Given the description of an element on the screen output the (x, y) to click on. 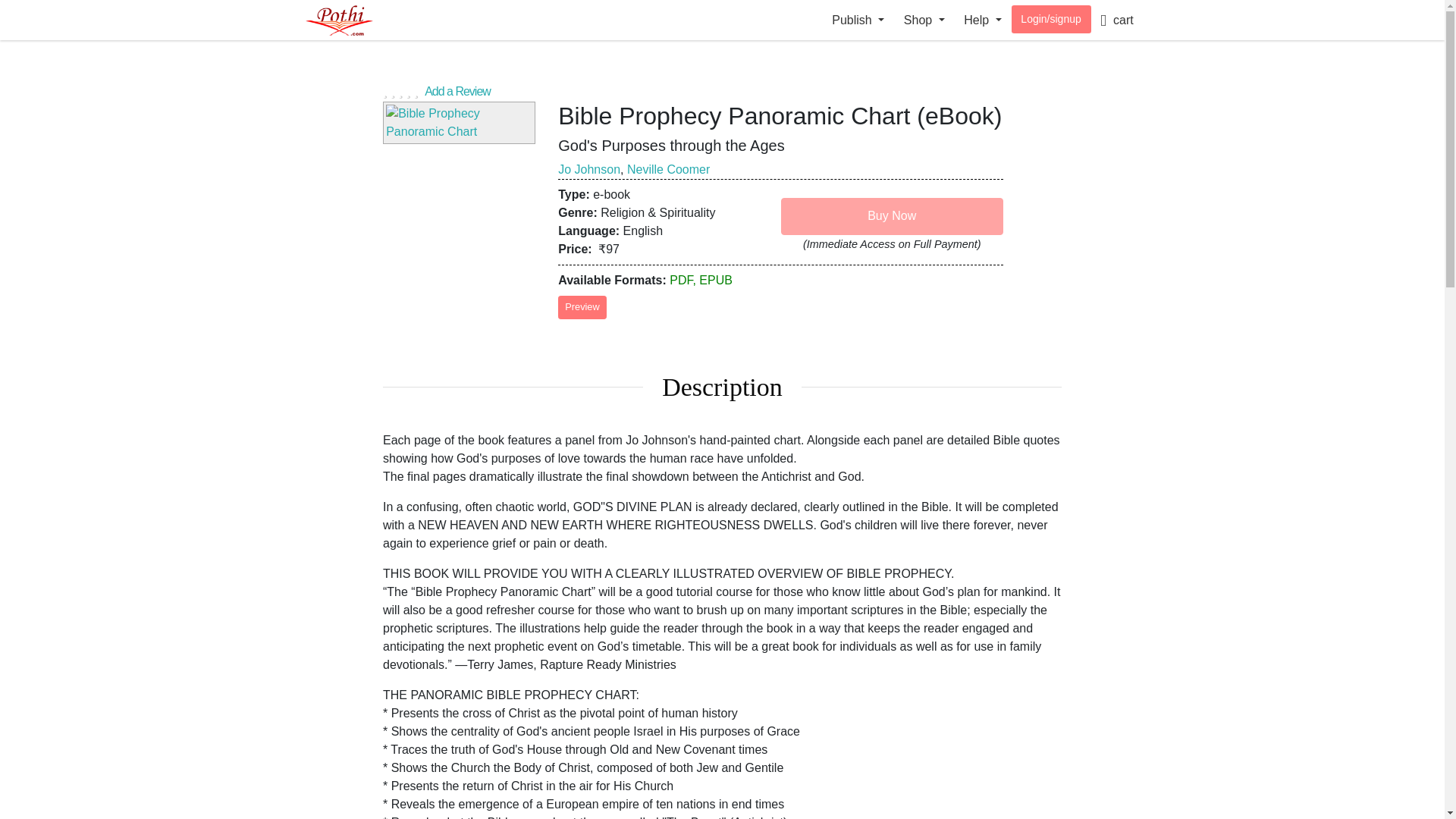
Shop (923, 20)
Publish (857, 20)
Preview the book (458, 122)
pothi.com (354, 20)
Help (983, 20)
Preview (582, 306)
Neville Coomer (668, 169)
Add a Review (721, 89)
Buy Now (891, 216)
  cart (1116, 20)
